Given the description of an element on the screen output the (x, y) to click on. 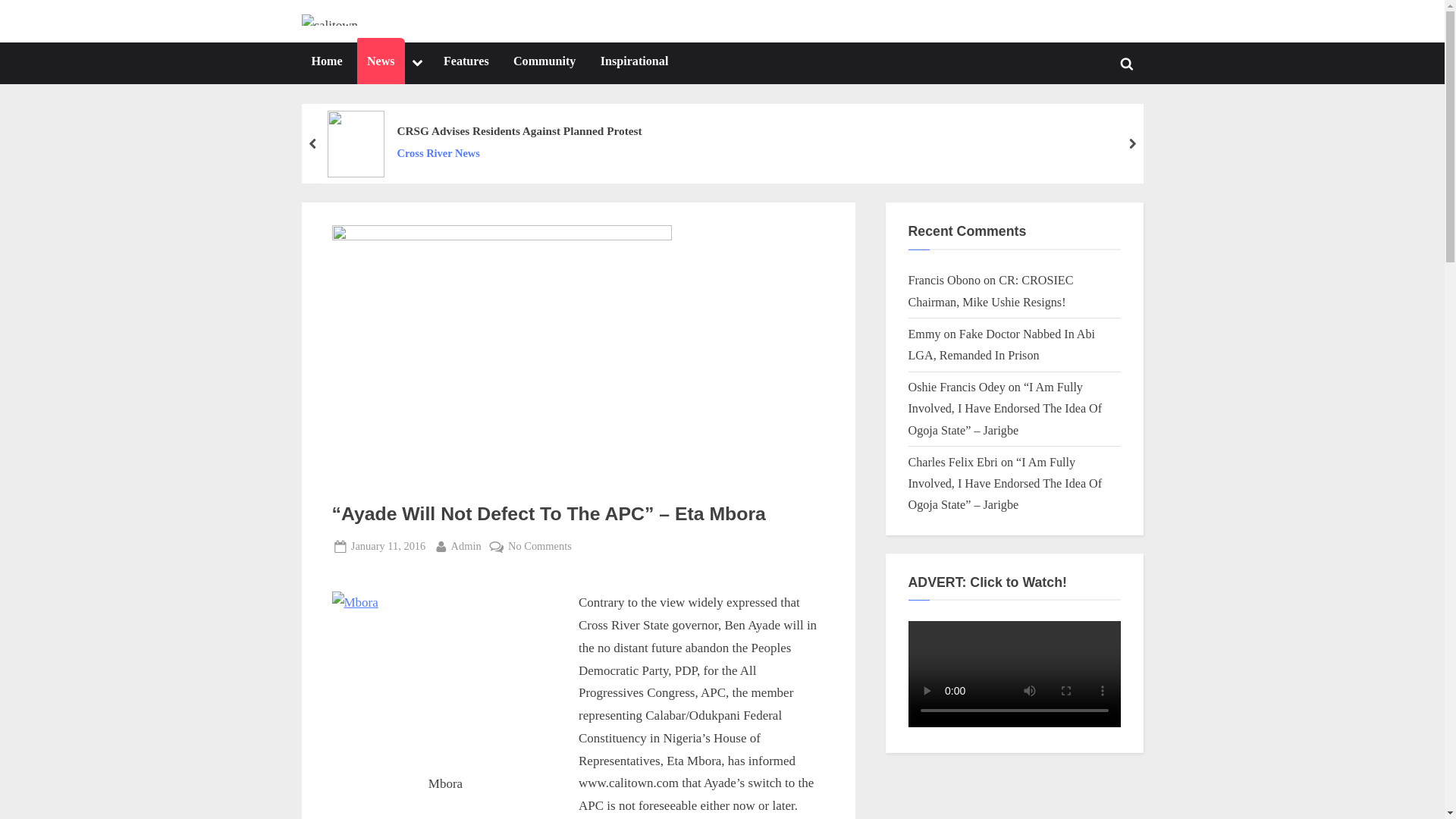
News (388, 546)
CRSG Advises Residents Against Planned Protest (380, 63)
Toggle sub-menu (519, 130)
calitown (417, 63)
Community (393, 32)
Home (544, 63)
Inspirational (326, 63)
Toggle search form (634, 63)
Features (1126, 62)
Cross River News (466, 63)
